Given the description of an element on the screen output the (x, y) to click on. 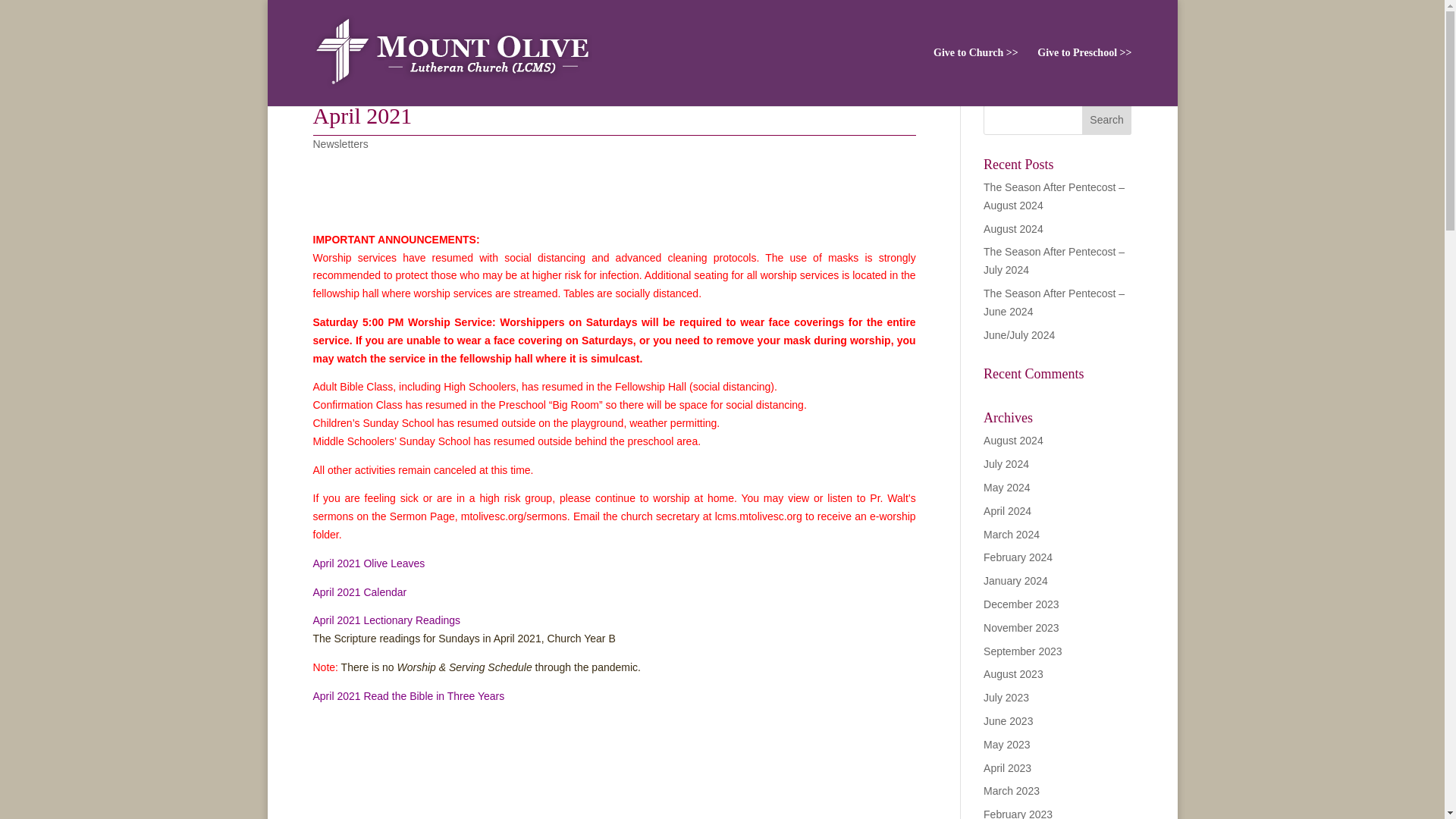
January 2024 (1016, 580)
May 2023 (1006, 744)
August 2024 (1013, 440)
April 2021 Olive Leaves (369, 563)
March 2023 (1011, 790)
April 2021 Read the Bible in Three Years (408, 695)
February 2024 (1018, 557)
May 2024 (1006, 487)
September 2023 (1023, 651)
July 2024 (1006, 463)
